Given the description of an element on the screen output the (x, y) to click on. 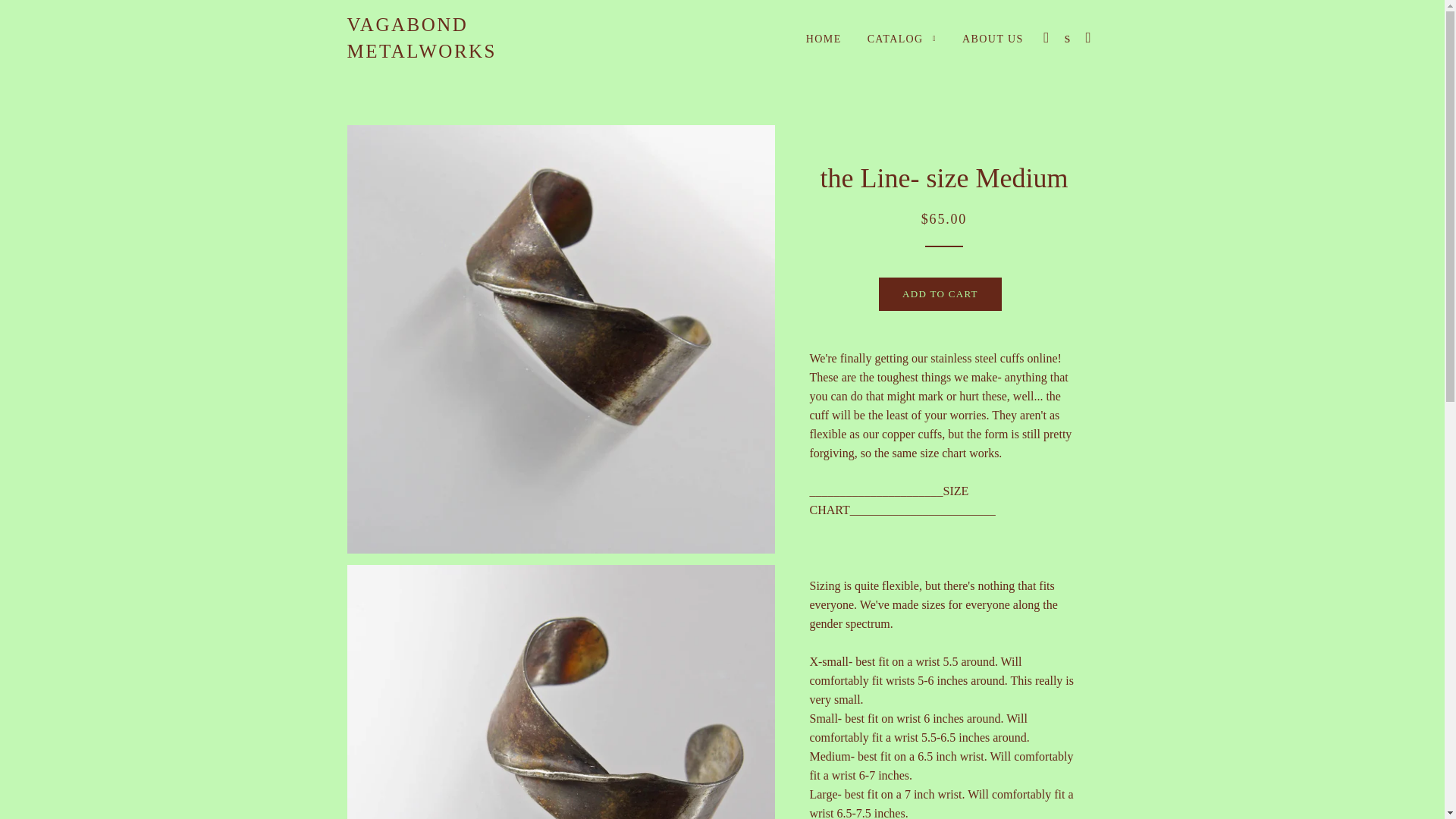
VAGABOND METALWORKS (471, 37)
CATALOG (901, 38)
ABOUT US (992, 38)
HOME (823, 38)
